Given the description of an element on the screen output the (x, y) to click on. 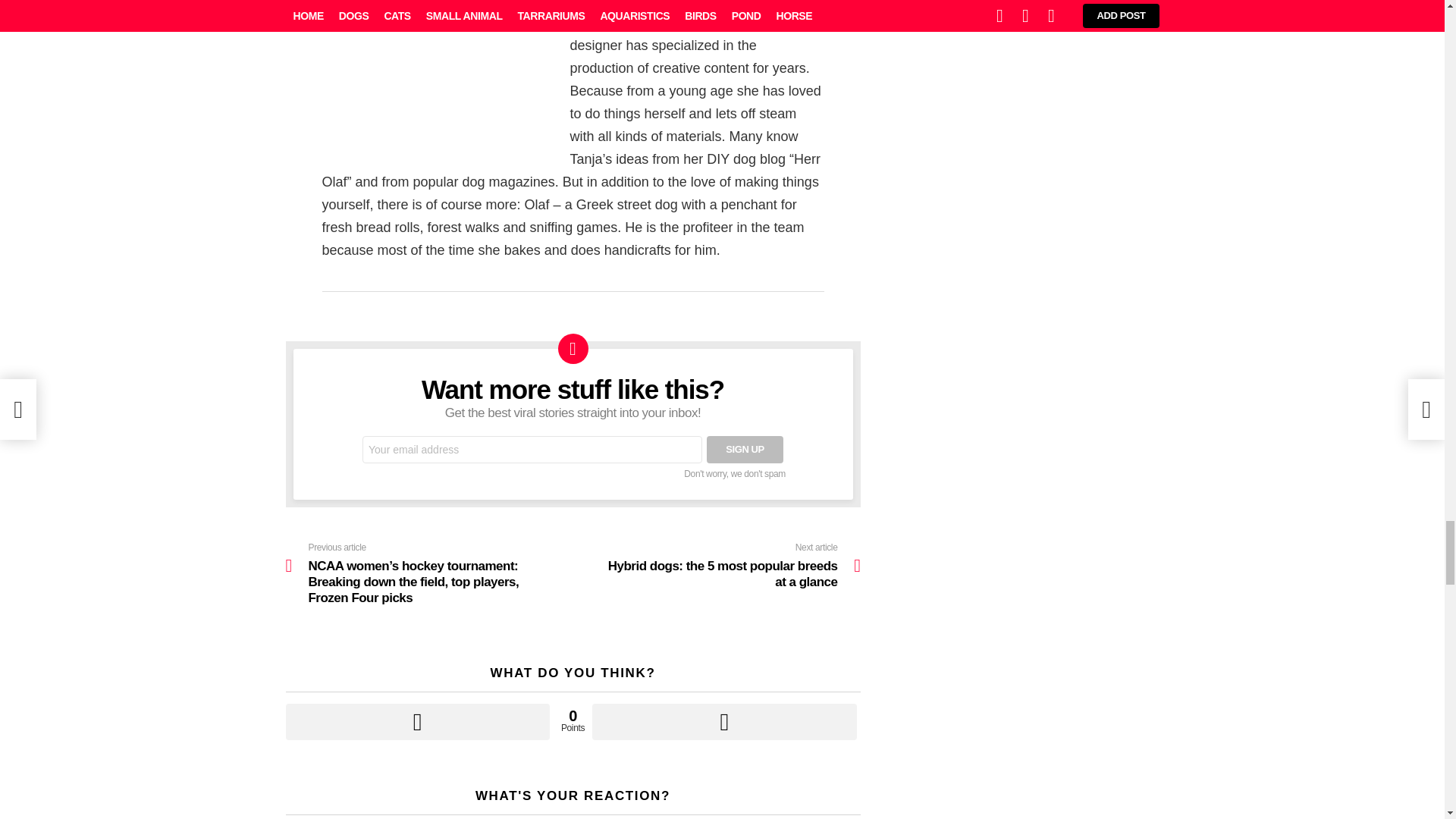
Upvote (416, 721)
Sign up (744, 449)
Downvote (724, 721)
